Given the description of an element on the screen output the (x, y) to click on. 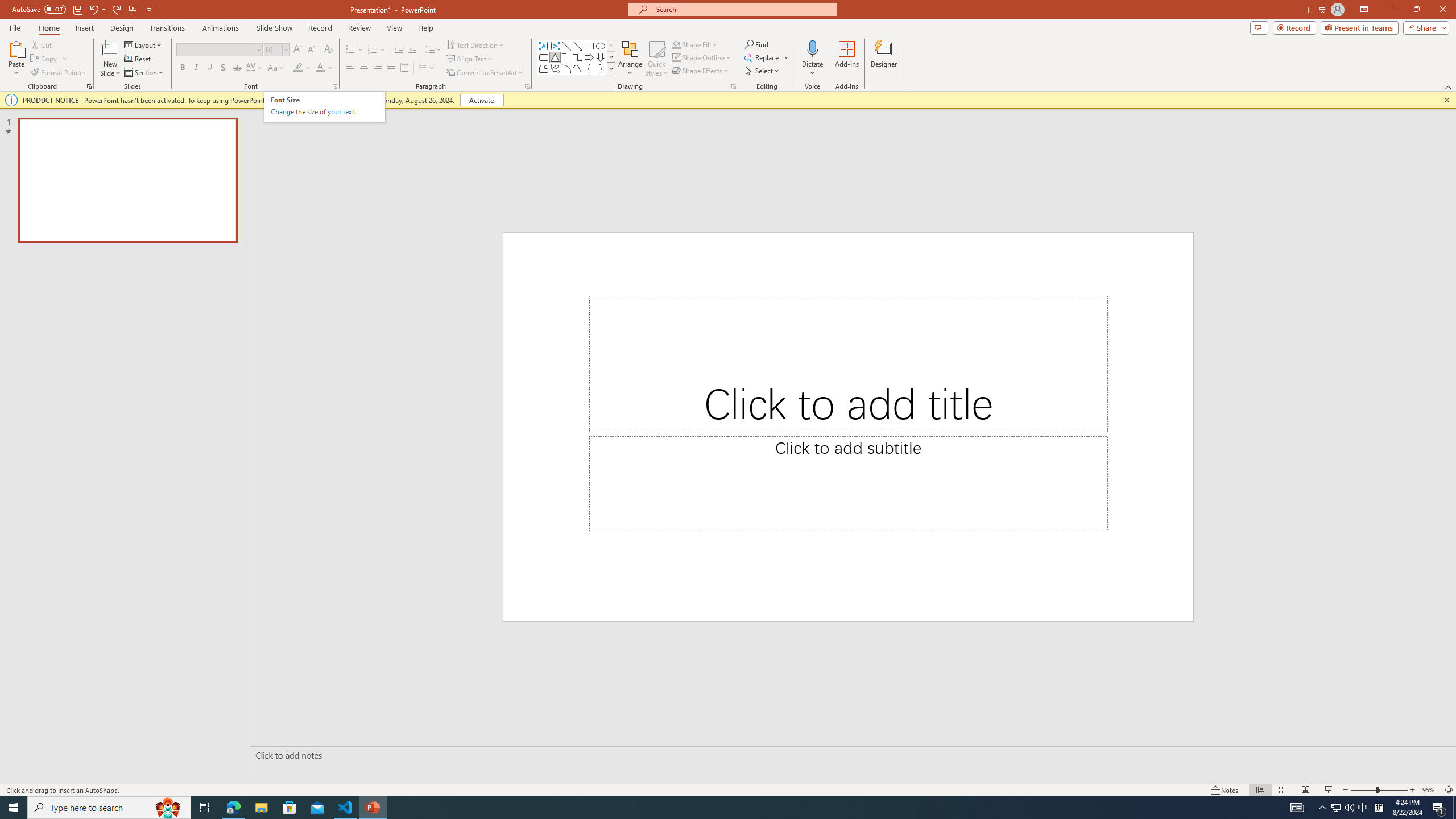
Activate (481, 100)
